Given the description of an element on the screen output the (x, y) to click on. 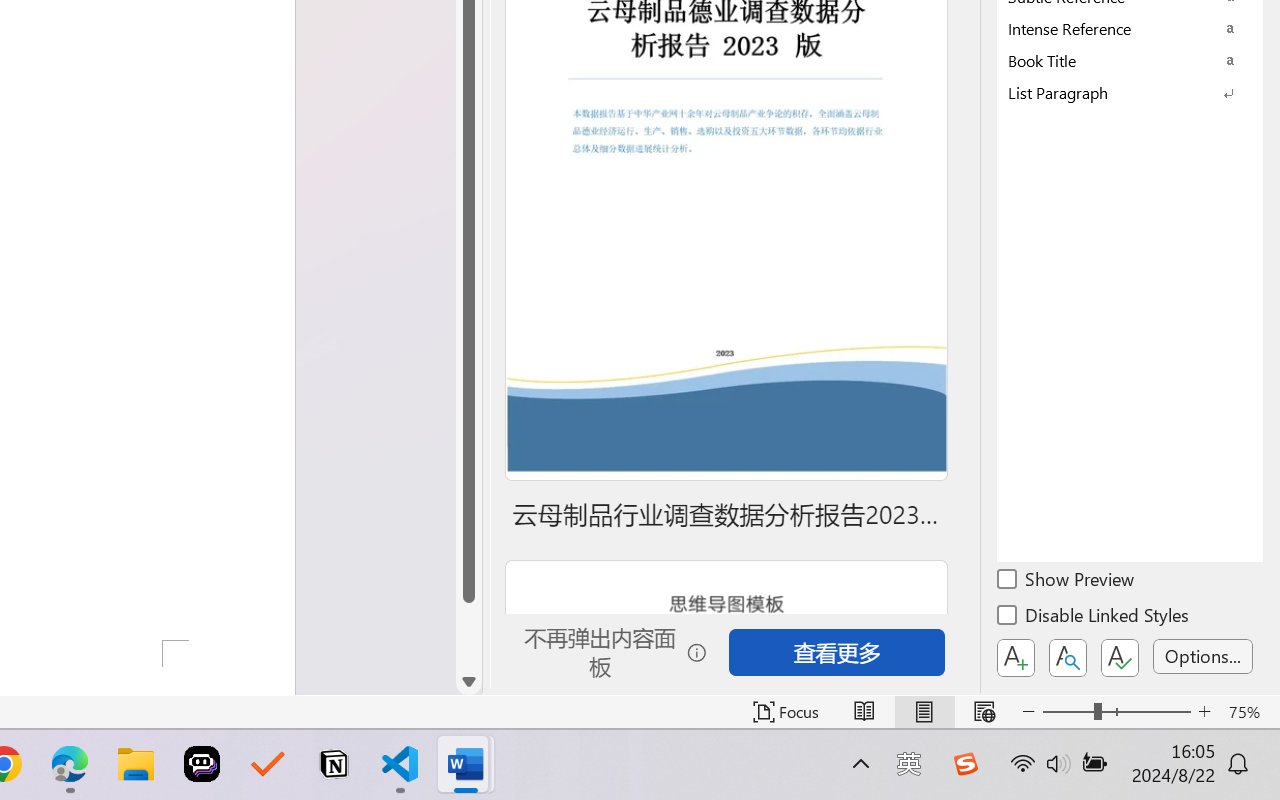
Print Layout (924, 712)
Line down (468, 681)
Book Title (1130, 60)
Options... (1203, 656)
